Given the description of an element on the screen output the (x, y) to click on. 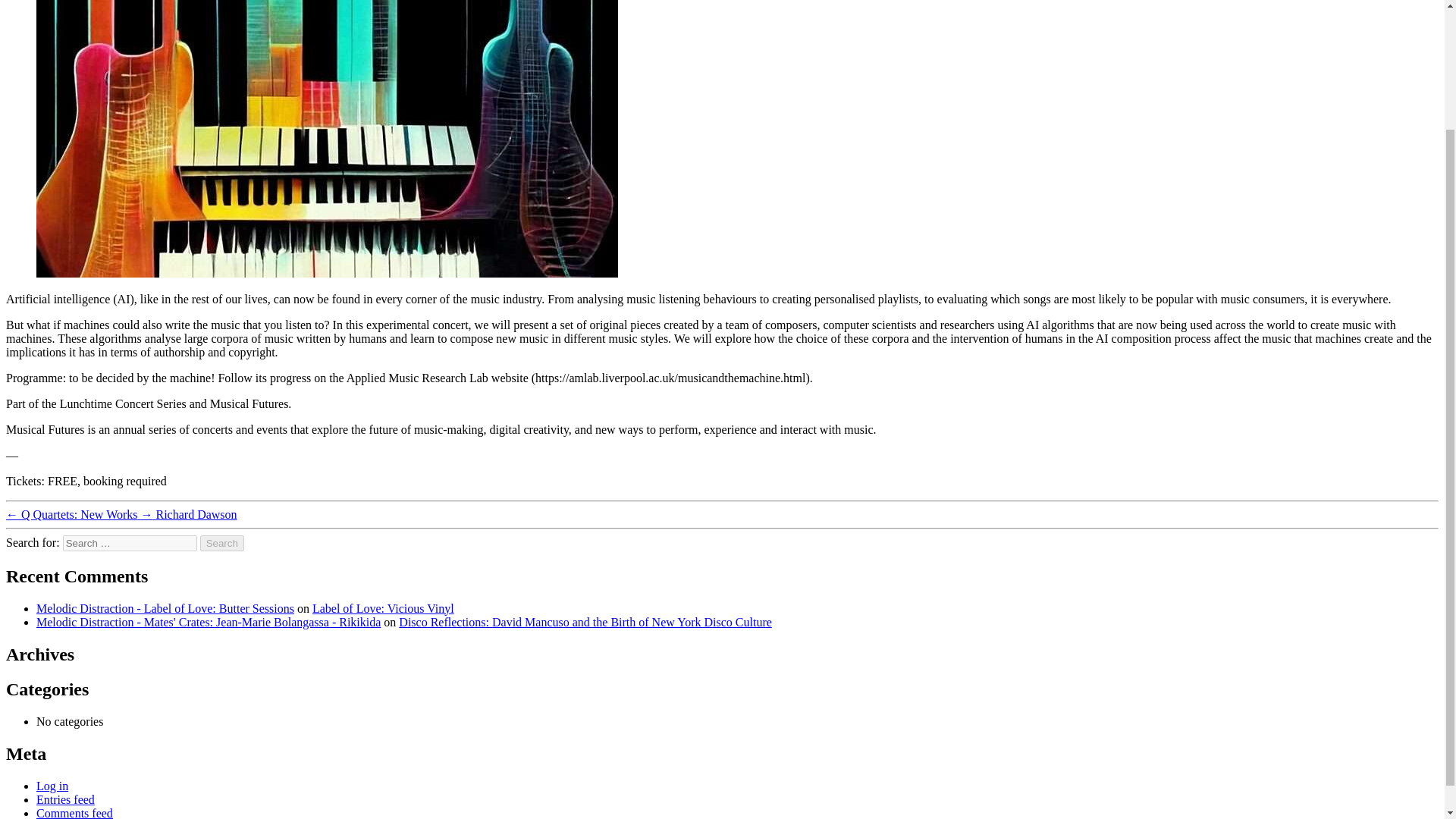
Search (222, 543)
Melodic Distraction - Label of Love: Butter Sessions (165, 608)
Label of Love: Vicious Vinyl (383, 608)
Log in (52, 785)
Entries feed (65, 799)
Search (222, 543)
Search (222, 543)
